Given the description of an element on the screen output the (x, y) to click on. 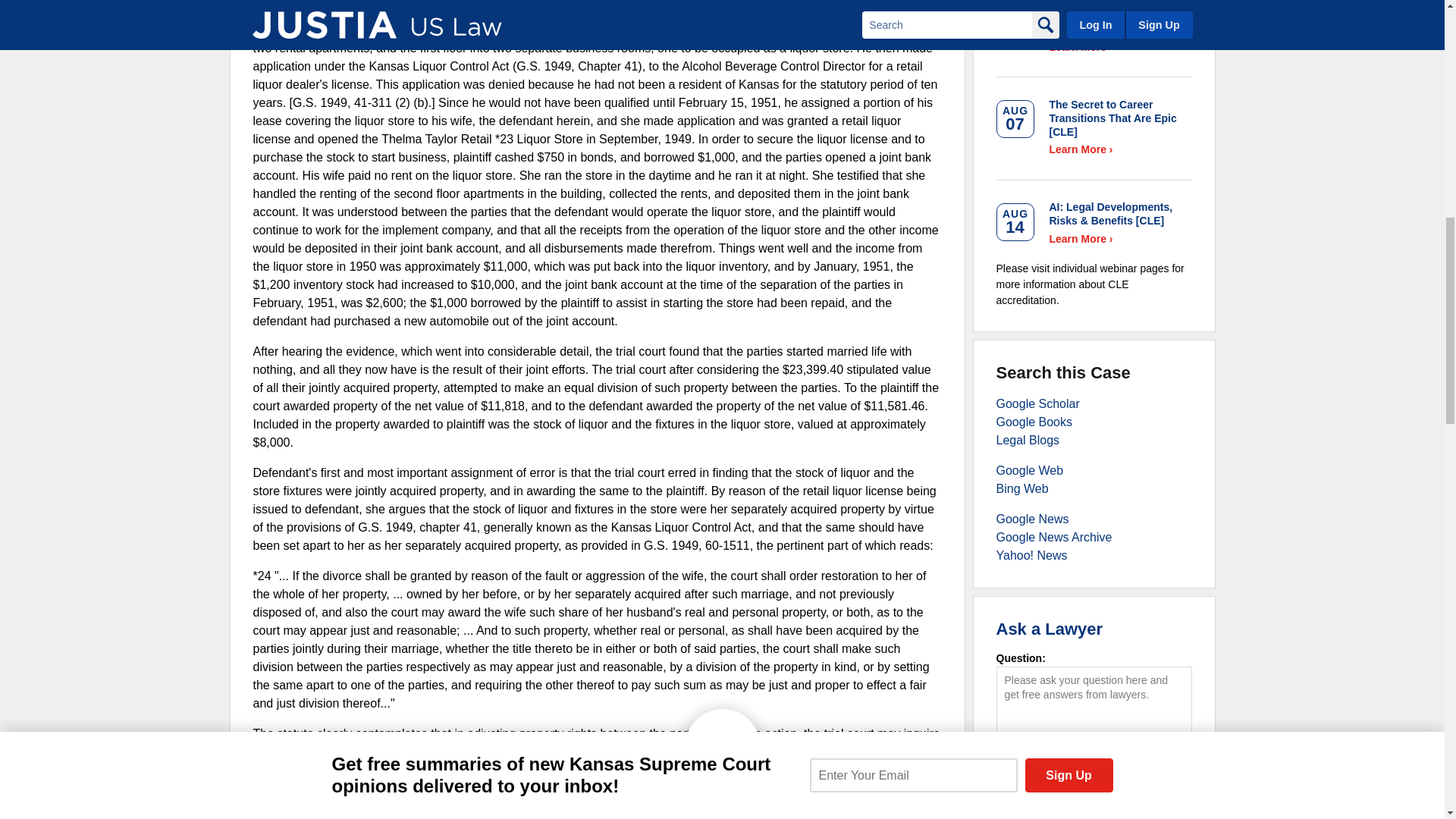
Law - Yahoo! News (1031, 554)
Law - Google Books (1034, 421)
Law - Google News (1031, 518)
Law - Google News Archive (1053, 536)
Law - Google Scholar (1037, 403)
Law - Google Web (1029, 470)
Law - Bing Web (1021, 488)
Law - Legal Blogs (1027, 440)
